Given the description of an element on the screen output the (x, y) to click on. 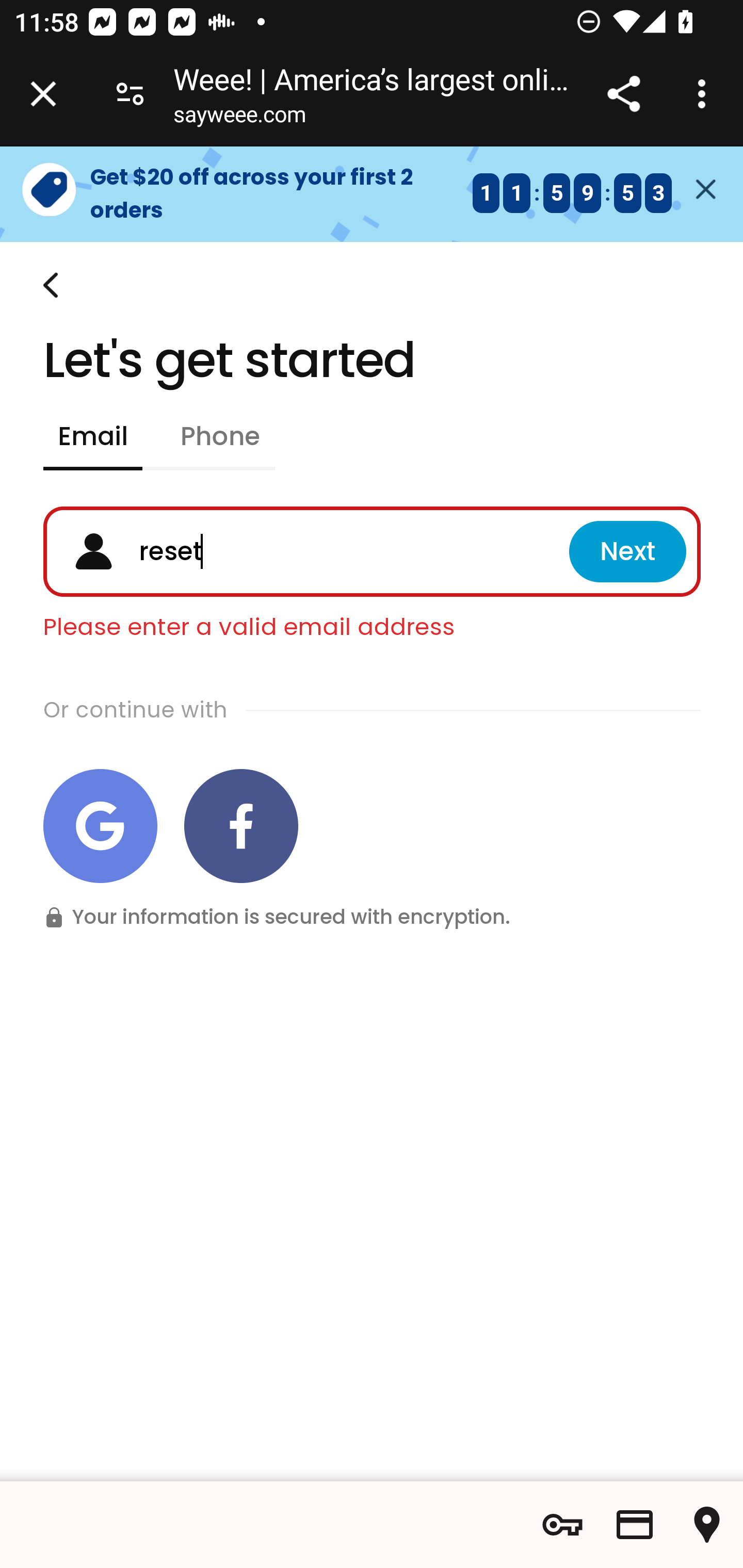
Close tab (43, 93)
Share link address (623, 93)
Customize and control Google Chrome (705, 93)
Connection is secure (129, 93)
sayweee.com (239, 117)
reset (344, 551)
Next (627, 551)
Show saved passwords and password options (562, 1524)
Show saved payment methods (634, 1524)
Show saved addresses (706, 1524)
